Given the description of an element on the screen output the (x, y) to click on. 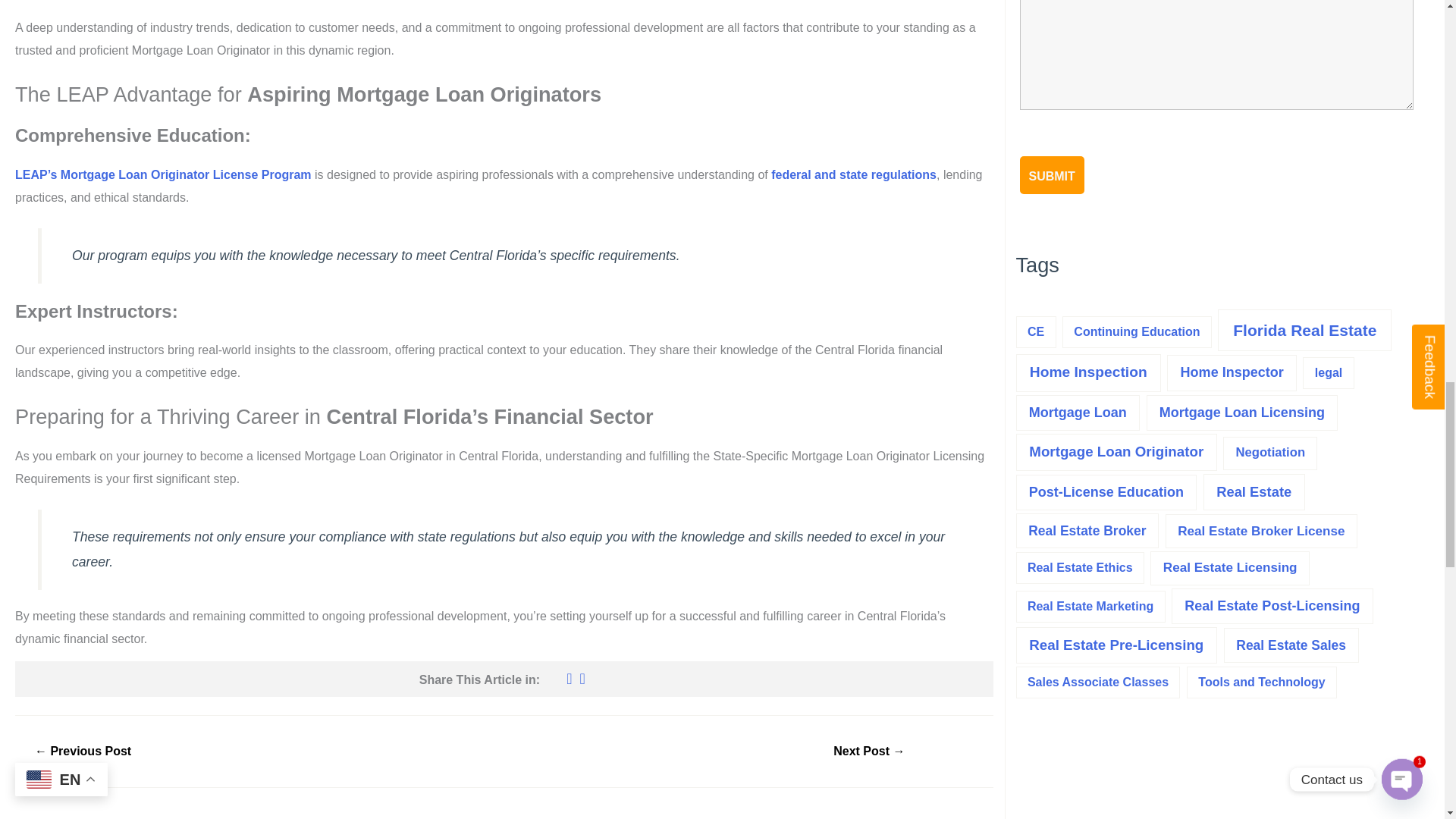
Home Inspection Licensing Requirements in Central Florida (82, 751)
Advantages of a Career in Real Estate Post-Licensing (868, 751)
Submit (1051, 175)
